Given the description of an element on the screen output the (x, y) to click on. 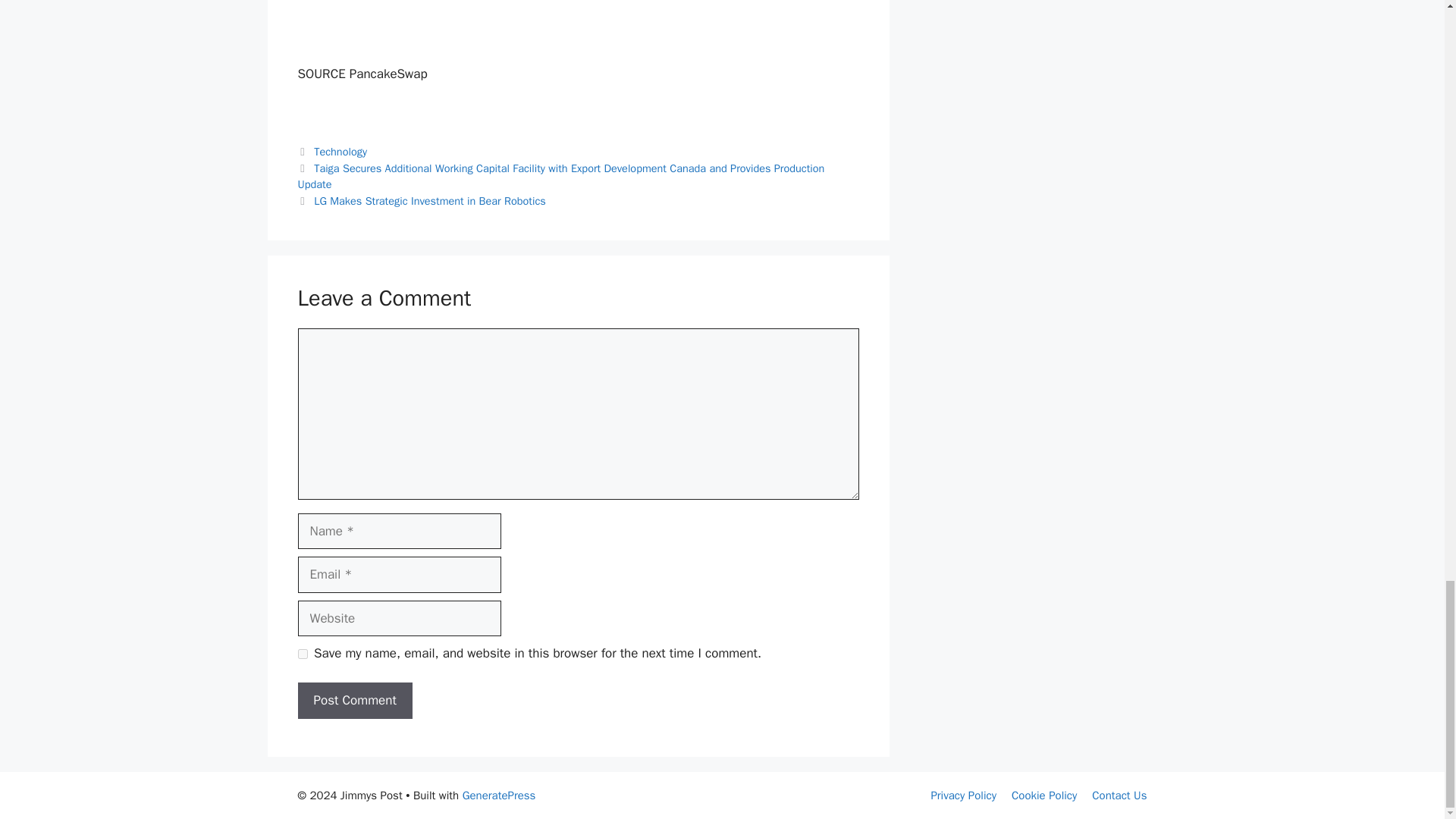
Privacy Policy (962, 795)
Technology (340, 151)
yes (302, 654)
Contact Us (1119, 795)
LG Makes Strategic Investment in Bear Robotics (430, 201)
Post Comment (354, 700)
Cookie Policy (1044, 795)
GeneratePress (499, 795)
Post Comment (354, 700)
